Given the description of an element on the screen output the (x, y) to click on. 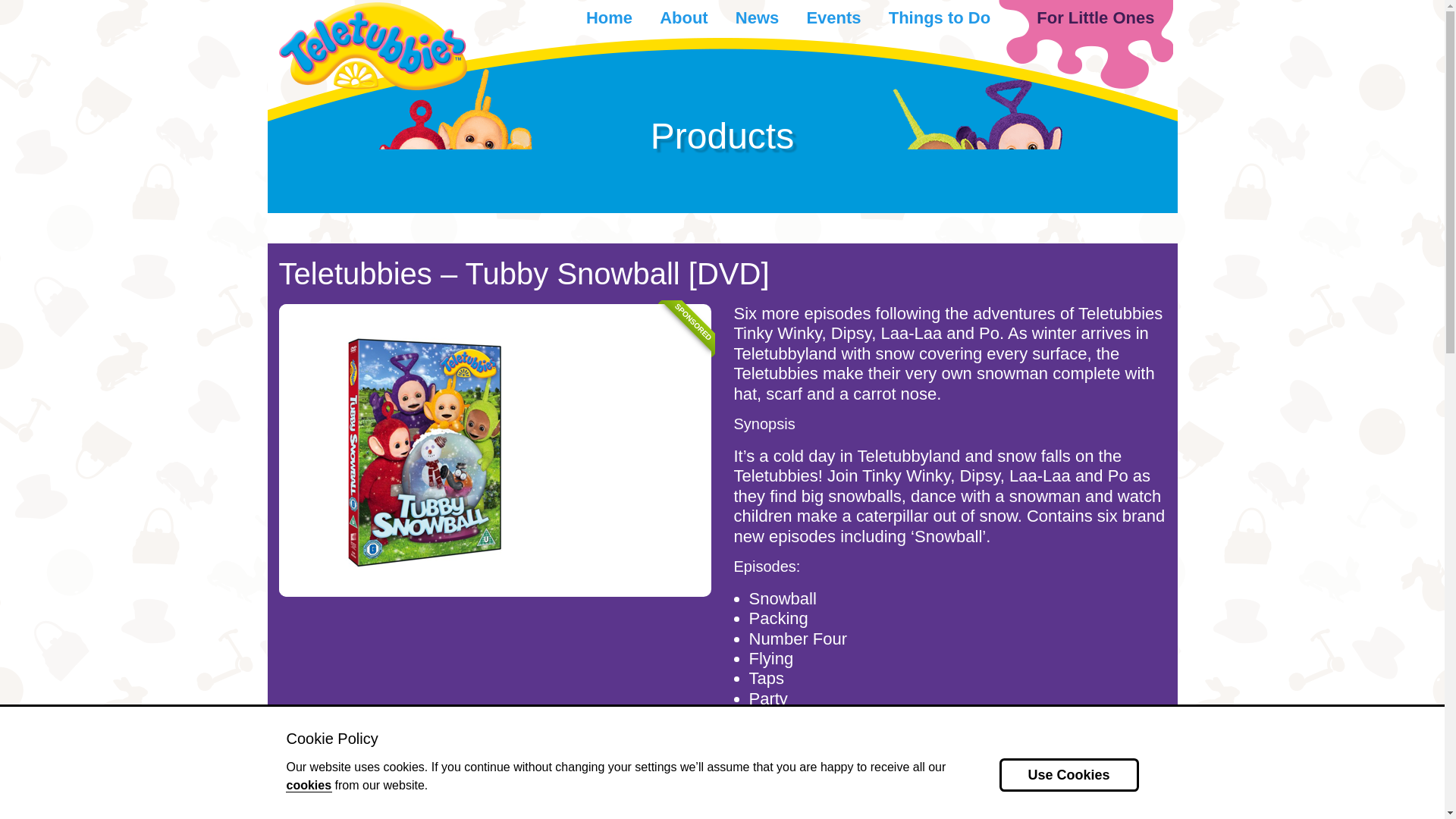
About (683, 17)
Link to the Home Page (373, 43)
News (756, 17)
Home (608, 17)
cookies (308, 785)
Events (833, 17)
For Little Ones (1095, 17)
Things to Do (939, 17)
Use Cookies (1068, 774)
